Given the description of an element on the screen output the (x, y) to click on. 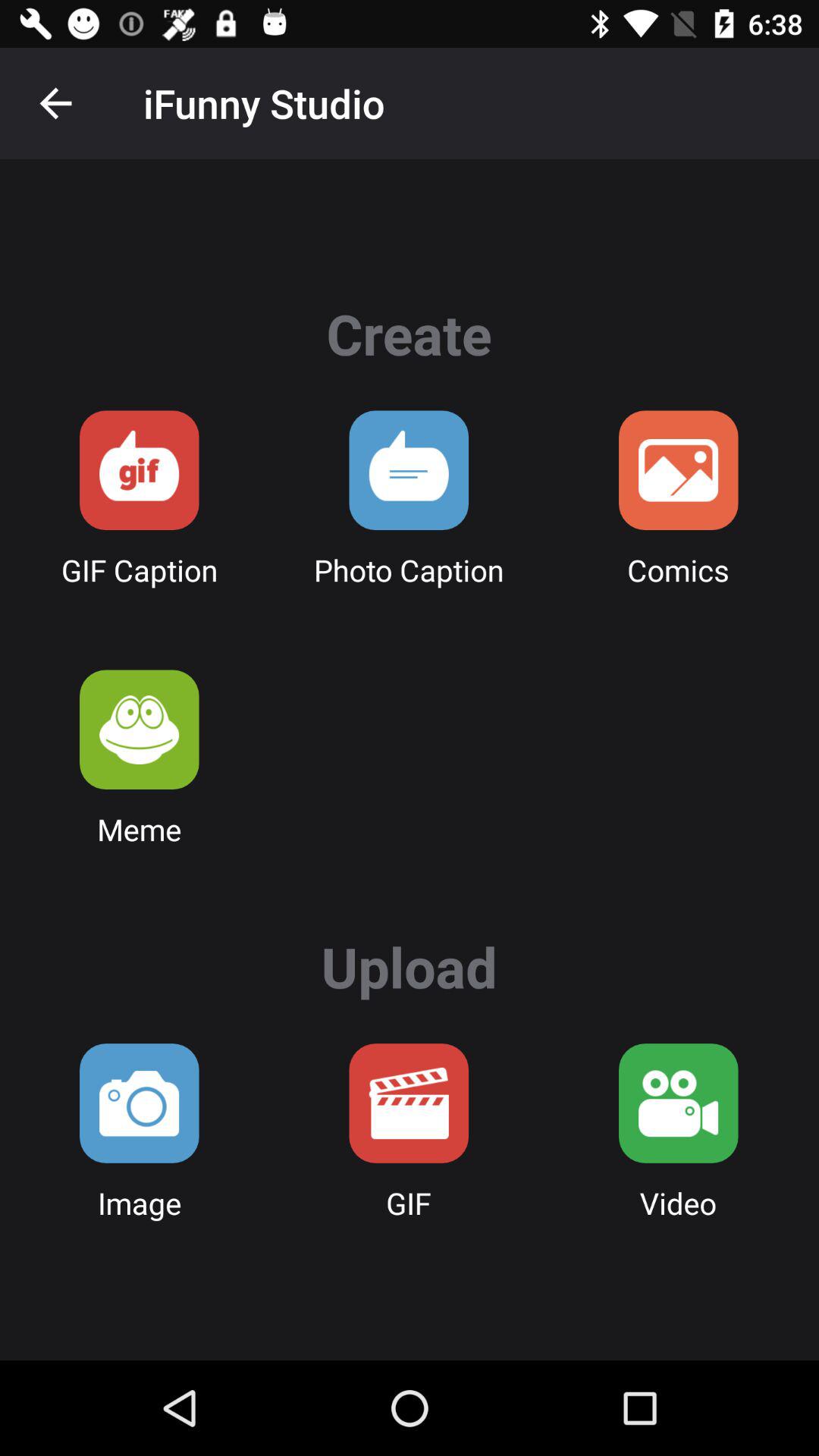
upload an image (139, 1103)
